Given the description of an element on the screen output the (x, y) to click on. 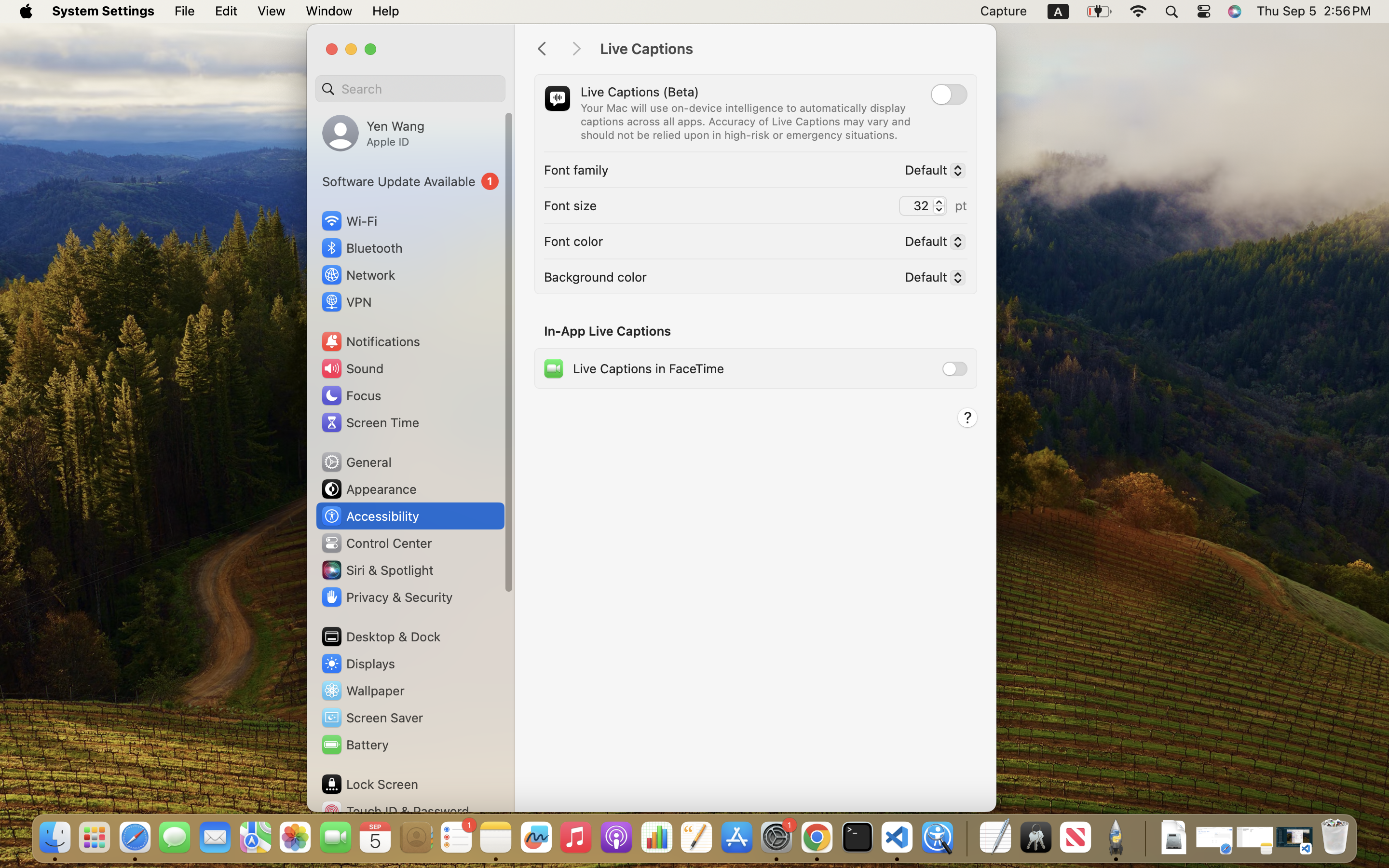
Displays Element type: AXStaticText (357, 663)
Font size Element type: AXStaticText (570, 205)
1 Element type: AXStaticText (410, 180)
Default Element type: AXPopUpButton (931, 279)
VPN Element type: AXStaticText (345, 301)
